Given the description of an element on the screen output the (x, y) to click on. 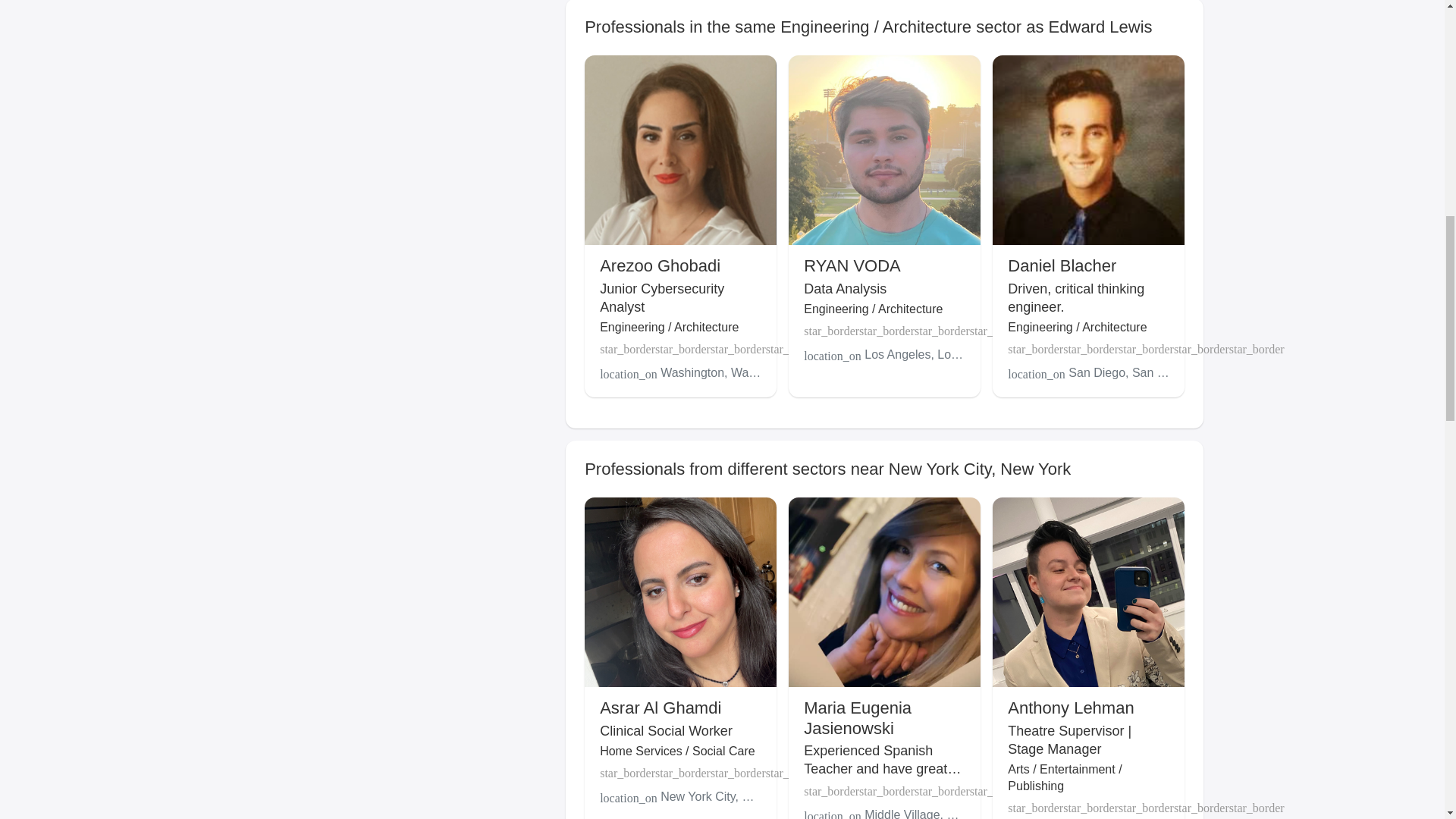
Arezoo Ghobadi (659, 265)
RYAN VODA (852, 265)
Arezoo Ghobadi (659, 265)
Anthony Lehman (1070, 707)
Daniel Blacher (1061, 265)
Asrar Al Ghamdi (659, 707)
RYAN VODA (852, 265)
Daniel Blacher (1061, 265)
Maria Eugenia Jasienowski (857, 717)
Asrar Al Ghamdi (659, 707)
